Given the description of an element on the screen output the (x, y) to click on. 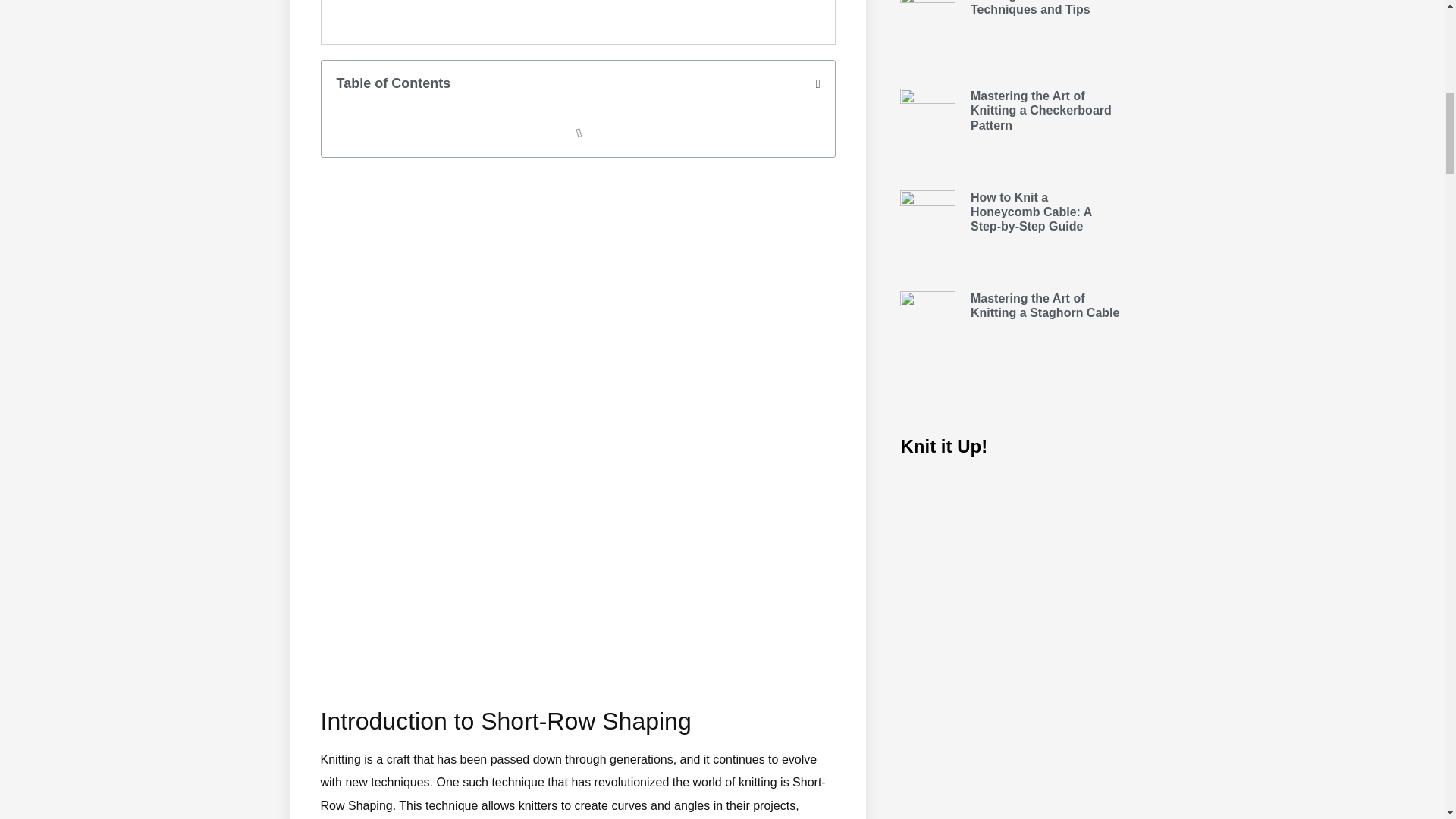
Mastering the Art of Knitting a Staghorn Cable (1045, 305)
Knitting a Lattice Pattern: Techniques and Tips (1044, 7)
Mastering the Art of Knitting a Checkerboard Pattern (1041, 110)
How to Knit a Honeycomb Cable: A Step-by-Step Guide (1031, 211)
